Given the description of an element on the screen output the (x, y) to click on. 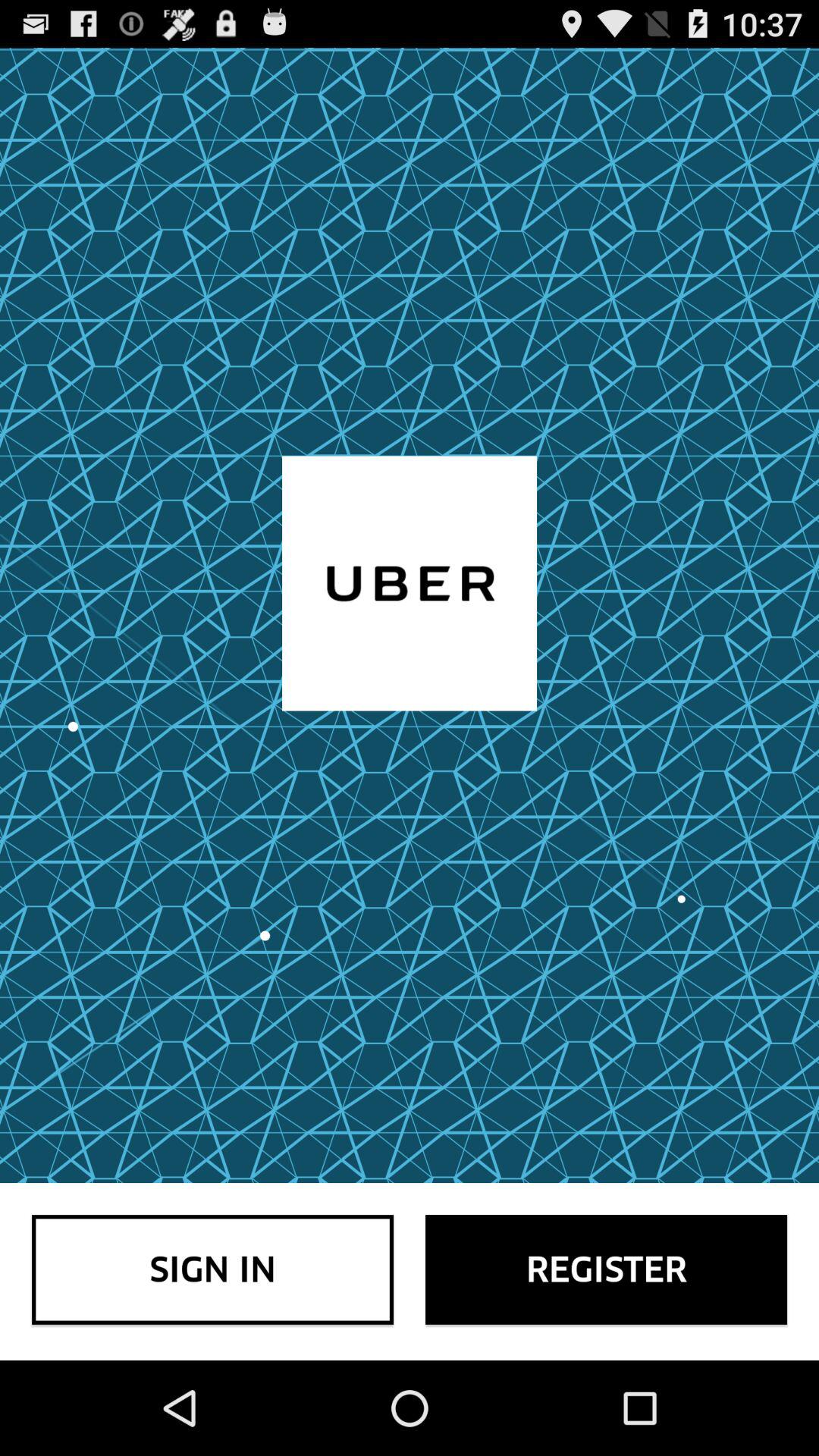
scroll to sign in icon (212, 1269)
